Given the description of an element on the screen output the (x, y) to click on. 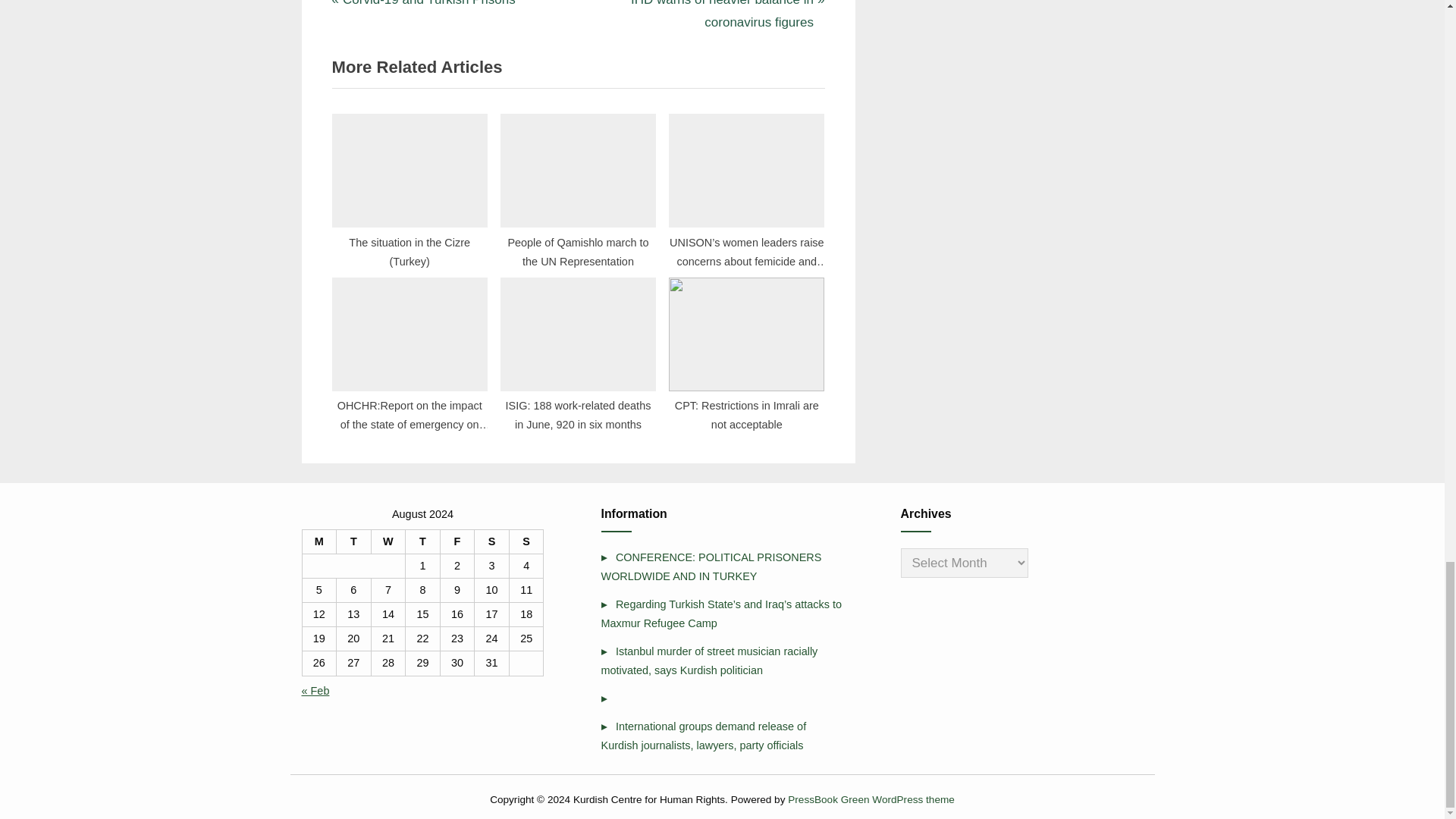
Saturday (491, 541)
Monday (318, 541)
Wednesday (388, 541)
Sunday (525, 541)
People of Qamishlo march to the UN Representation (578, 185)
Tuesday (423, 5)
Friday (353, 541)
Thursday (456, 541)
